Given the description of an element on the screen output the (x, y) to click on. 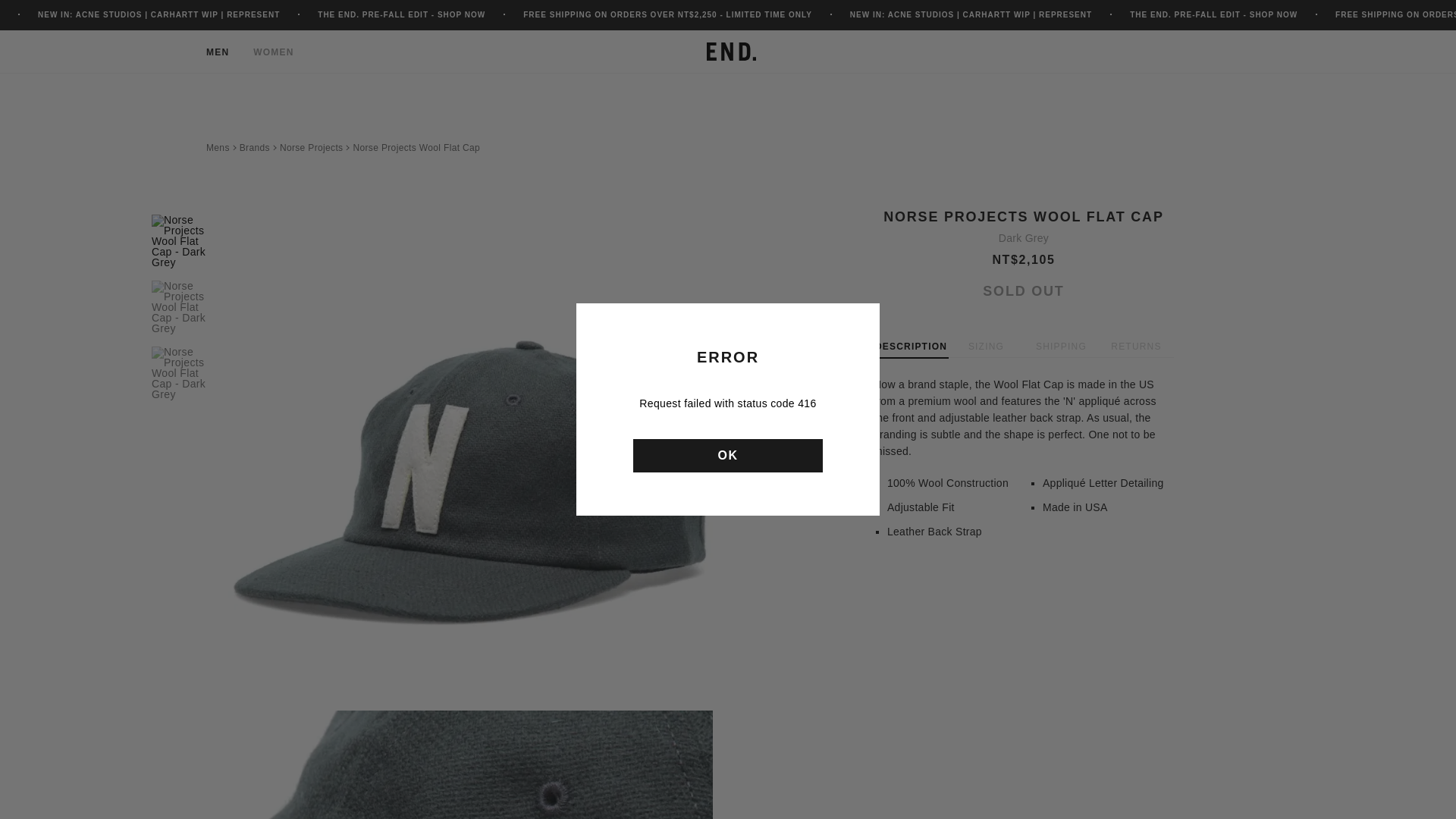
THE END. PRE-FALL EDIT - SHOP NOW (1213, 14)
Norse Projects (311, 147)
Norse Projects Wool Flat Cap (416, 147)
OK (727, 455)
Brands (254, 147)
Mens (218, 147)
THE END. PRE-FALL EDIT - SHOP NOW (400, 14)
